Given the description of an element on the screen output the (x, y) to click on. 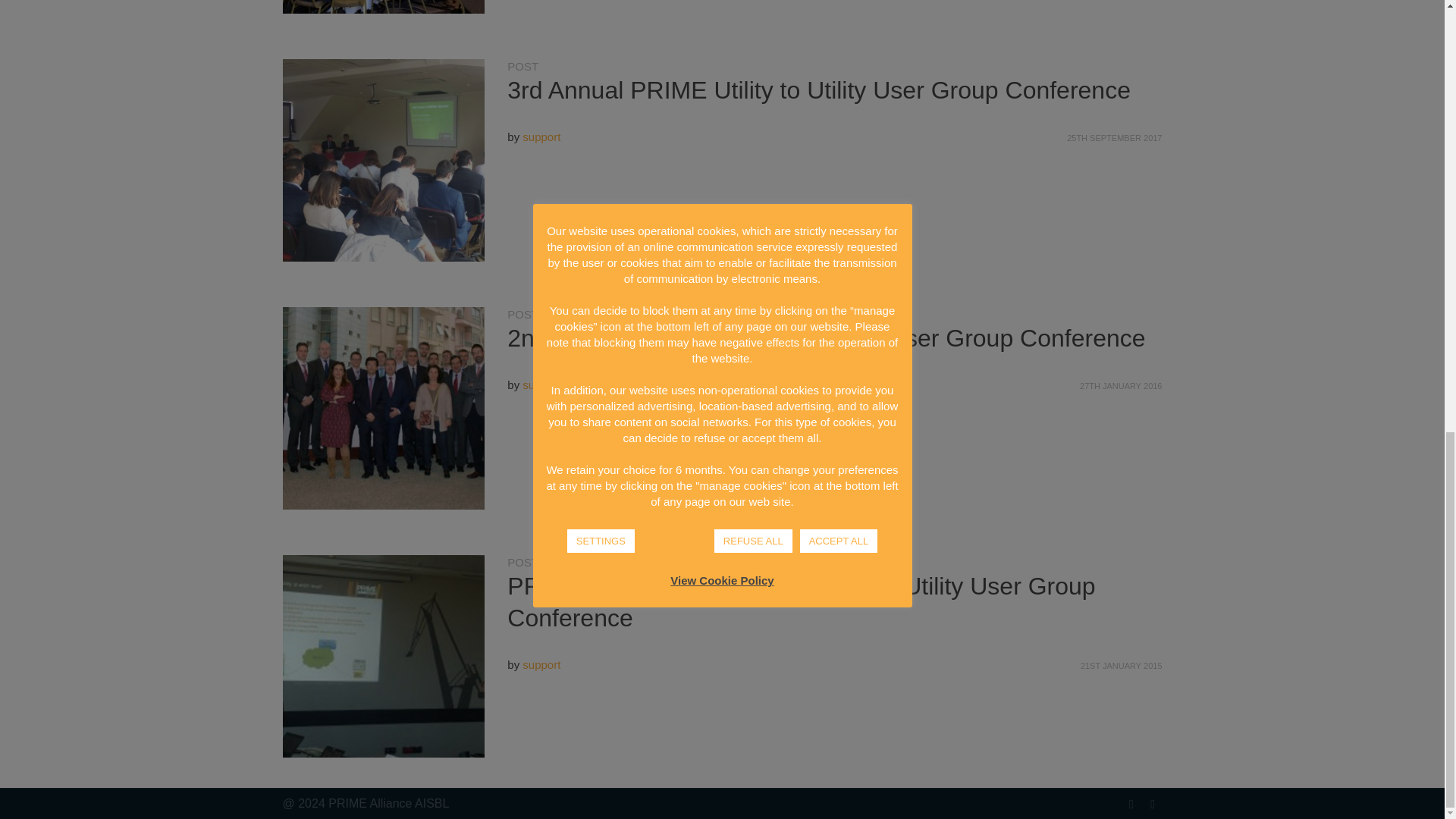
4th Annual PRIME Utility to Utility User Group Conference (383, 7)
